Given the description of an element on the screen output the (x, y) to click on. 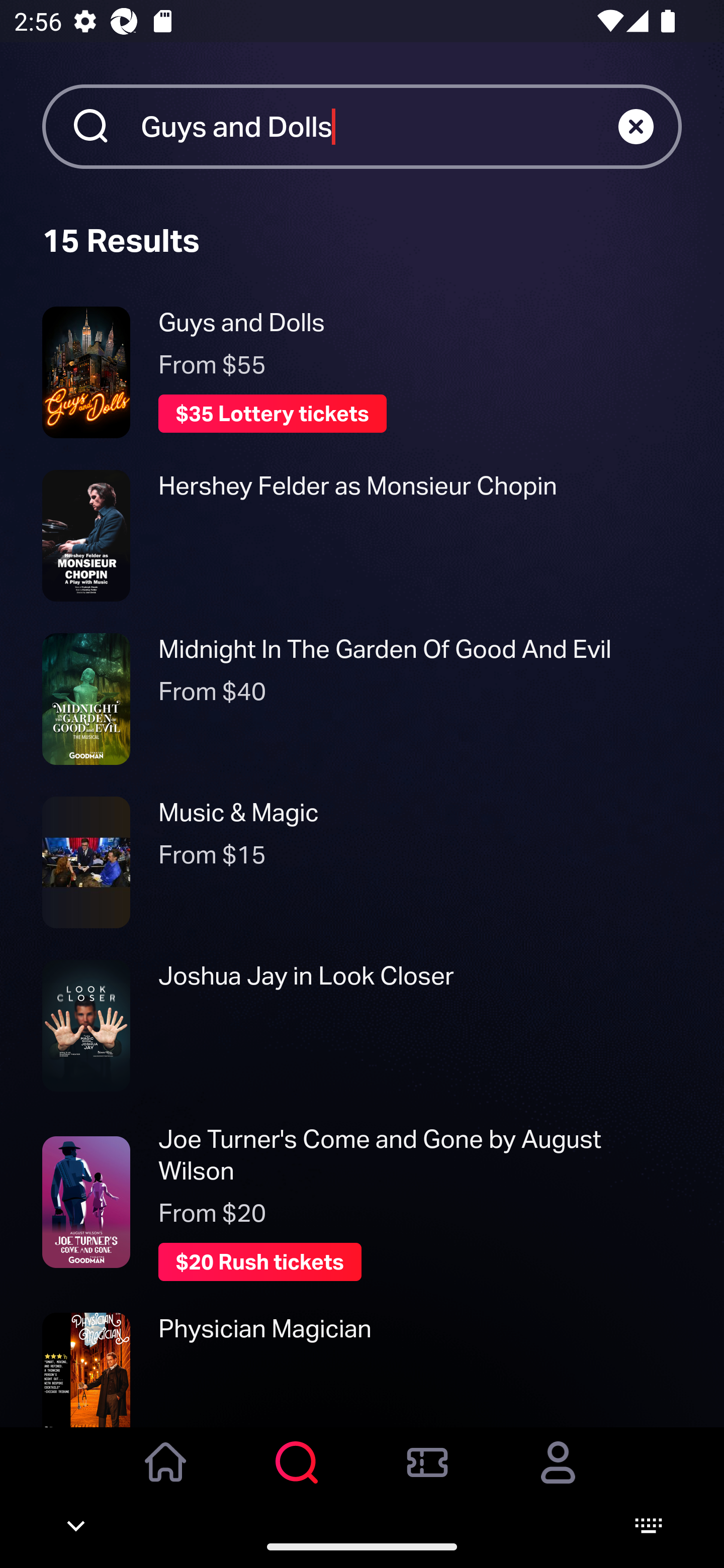
Guys and Dolls (379, 126)
Music & Magic $15  Music & Magic From $15 (361, 862)
Physician Magician  Physician Magician (361, 1369)
Home (165, 1475)
Orders (427, 1475)
Account (558, 1475)
